Given the description of an element on the screen output the (x, y) to click on. 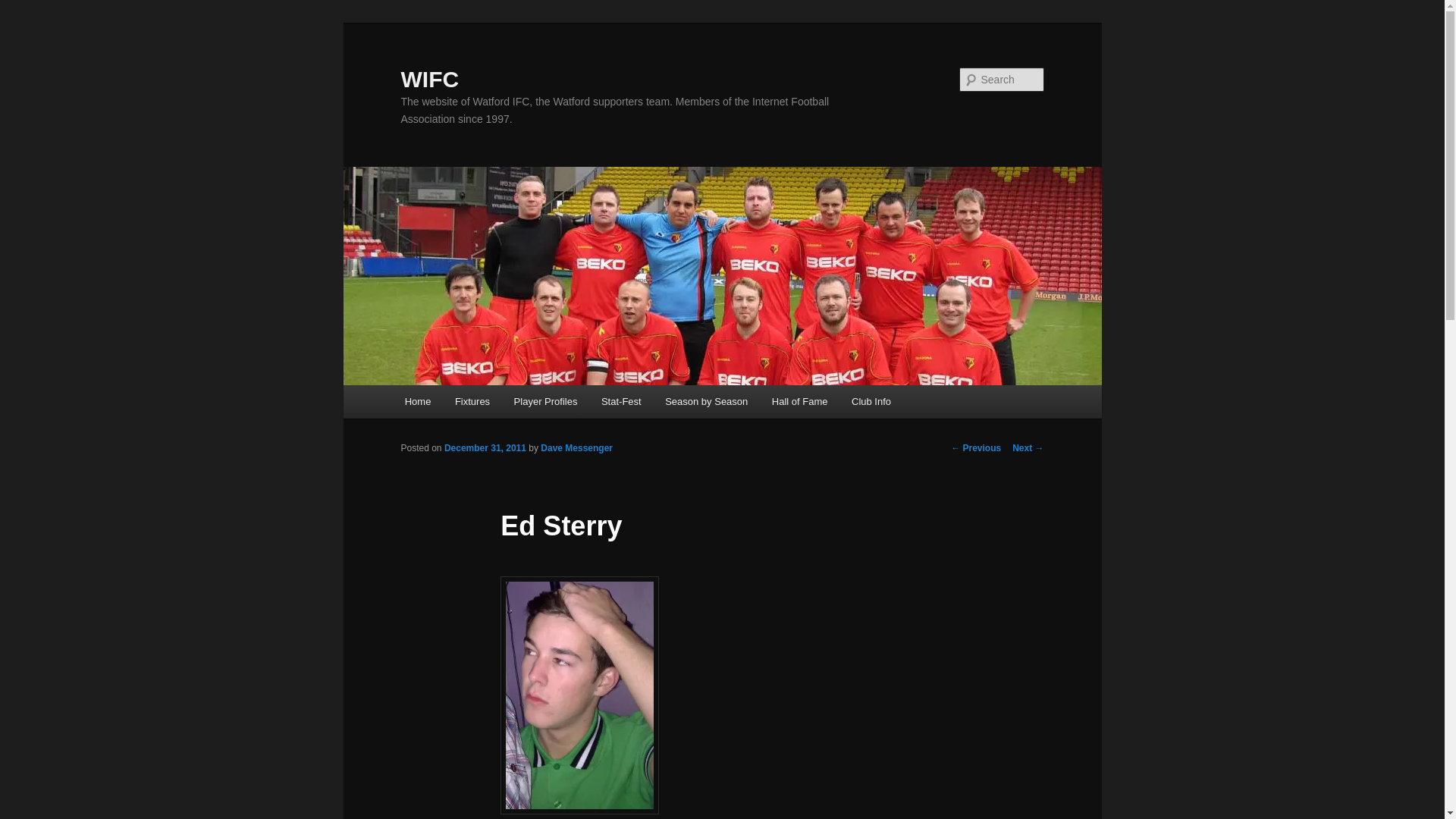
December 31, 2011 (484, 448)
Season by Season (706, 400)
Home (417, 400)
Player Profiles (545, 400)
Search (24, 8)
WIFC (429, 78)
Hall of Fame (800, 400)
Club Info (871, 400)
Stat-Fest (620, 400)
Dave Messenger (576, 448)
Fixtures (472, 400)
